Given the description of an element on the screen output the (x, y) to click on. 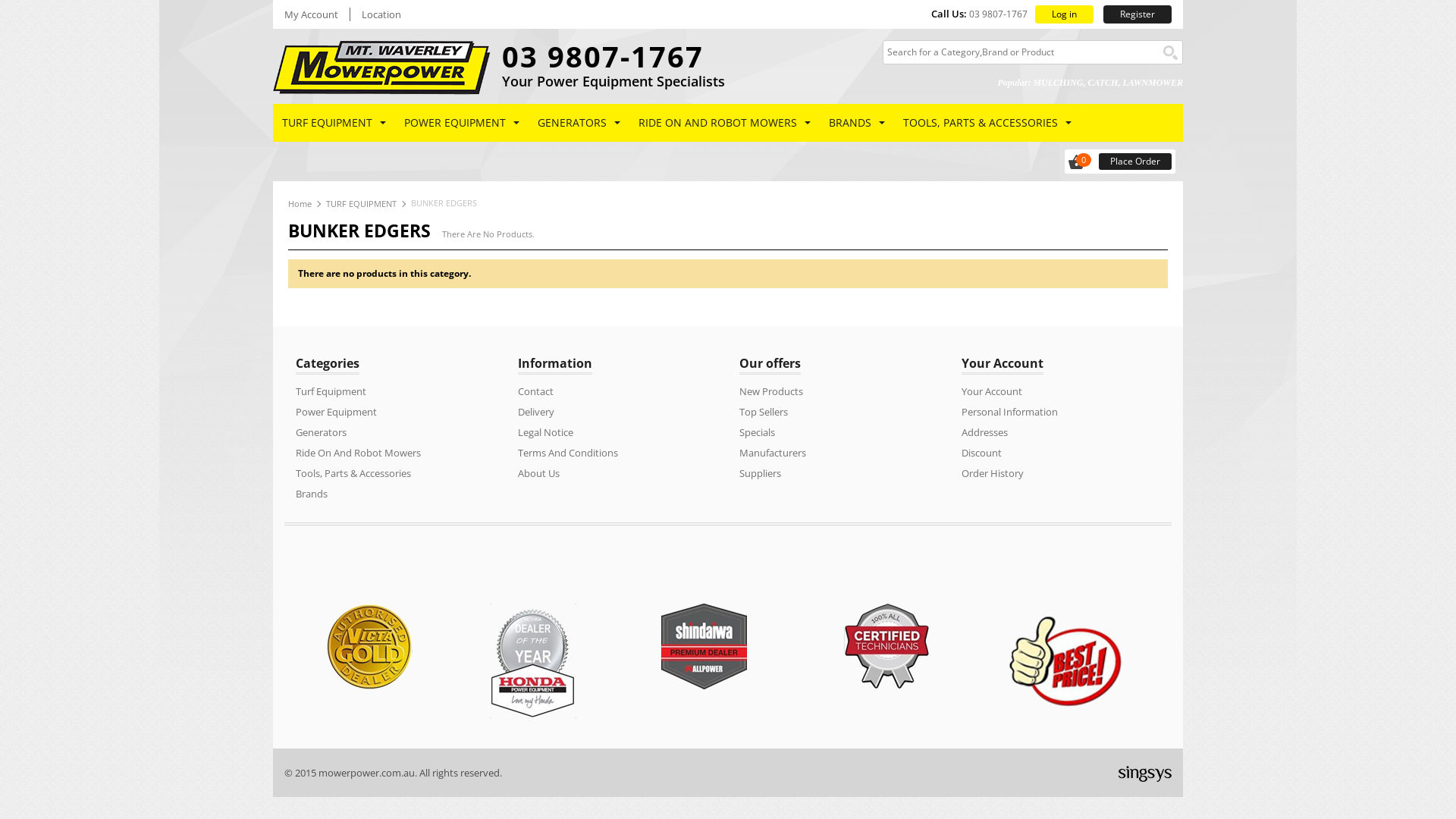
Your Account Element type: text (991, 391)
Location Element type: text (381, 14)
Top Sellers Element type: text (763, 411)
Home Element type: text (299, 203)
Delivery Element type: text (535, 411)
0 Element type: text (1083, 161)
TURF EQUIPMENT Element type: text (361, 203)
BRANDS Element type: text (856, 122)
RIDE ON AND ROBOT MOWERS Element type: text (724, 122)
Addresses Element type: text (984, 432)
TOOLS, PARTS & ACCESSORIES Element type: text (987, 122)
About Us Element type: text (537, 473)
Mt Waverley Mowerpower Element type: hover (381, 65)
Place Order Element type: text (1134, 161)
Power Equipment Element type: text (335, 411)
POWER EQUIPMENT Element type: text (461, 122)
Go! Element type: text (1170, 52)
My Account Element type: text (311, 14)
Tools, Parts & Accessories Element type: text (353, 473)
Turf Equipment Element type: text (330, 391)
03 9807-1767 Element type: text (602, 55)
Brands Element type: text (311, 493)
Manufacturers Element type: text (772, 452)
Discount Element type: text (981, 452)
Register Element type: text (1137, 14)
Terms And Conditions Element type: text (567, 452)
Suppliers Element type: text (760, 473)
Specials Element type: text (757, 432)
Ride On And Robot Mowers Element type: text (357, 452)
Legal Notice Element type: text (544, 432)
TURF EQUIPMENT Element type: text (334, 122)
GENERATORS Element type: text (578, 122)
Personal Information Element type: text (1009, 411)
Generators Element type: text (320, 432)
Contact Element type: text (534, 391)
Log in Element type: text (1064, 14)
New Products Element type: text (771, 391)
Order History Element type: text (992, 473)
